Given the description of an element on the screen output the (x, y) to click on. 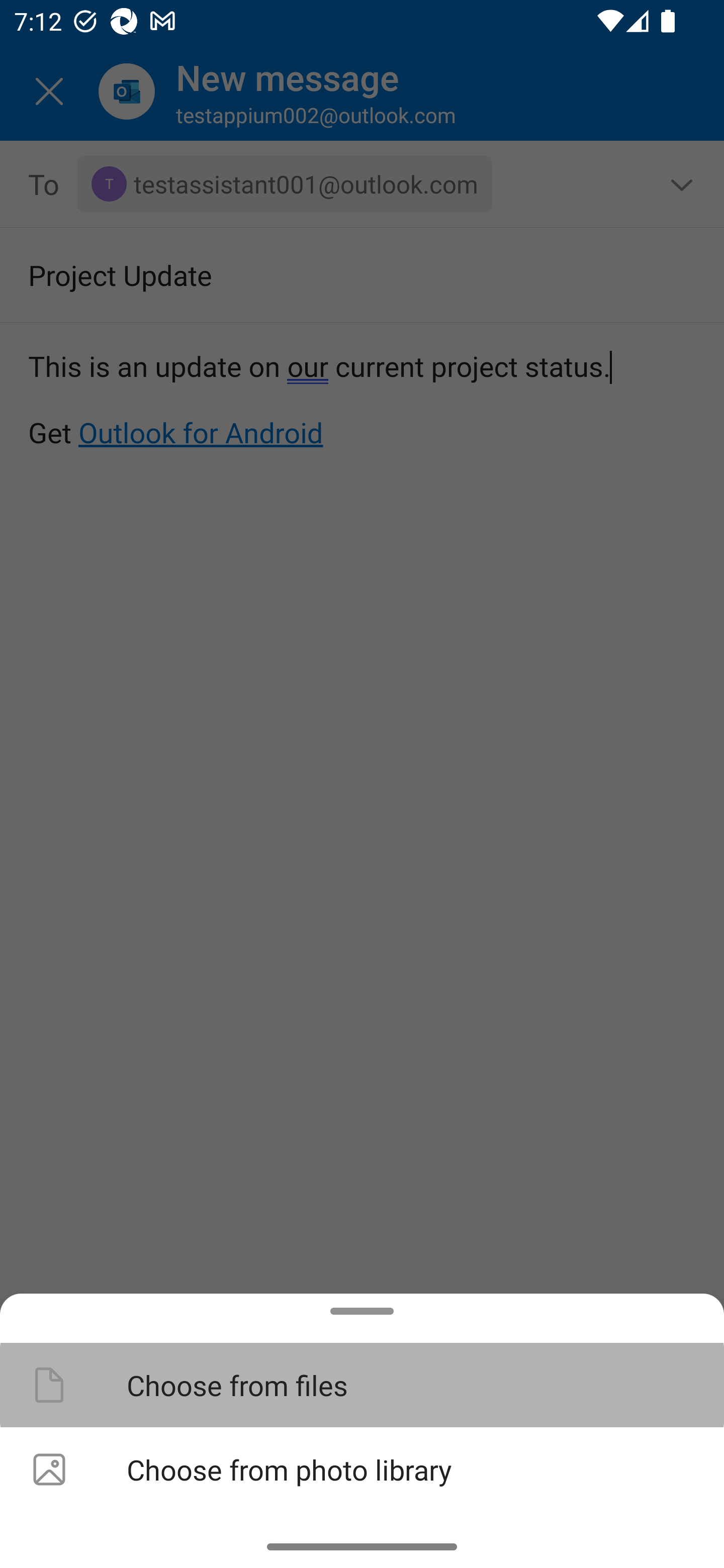
Choose from files (362, 1384)
Choose from photo library (362, 1468)
